Given the description of an element on the screen output the (x, y) to click on. 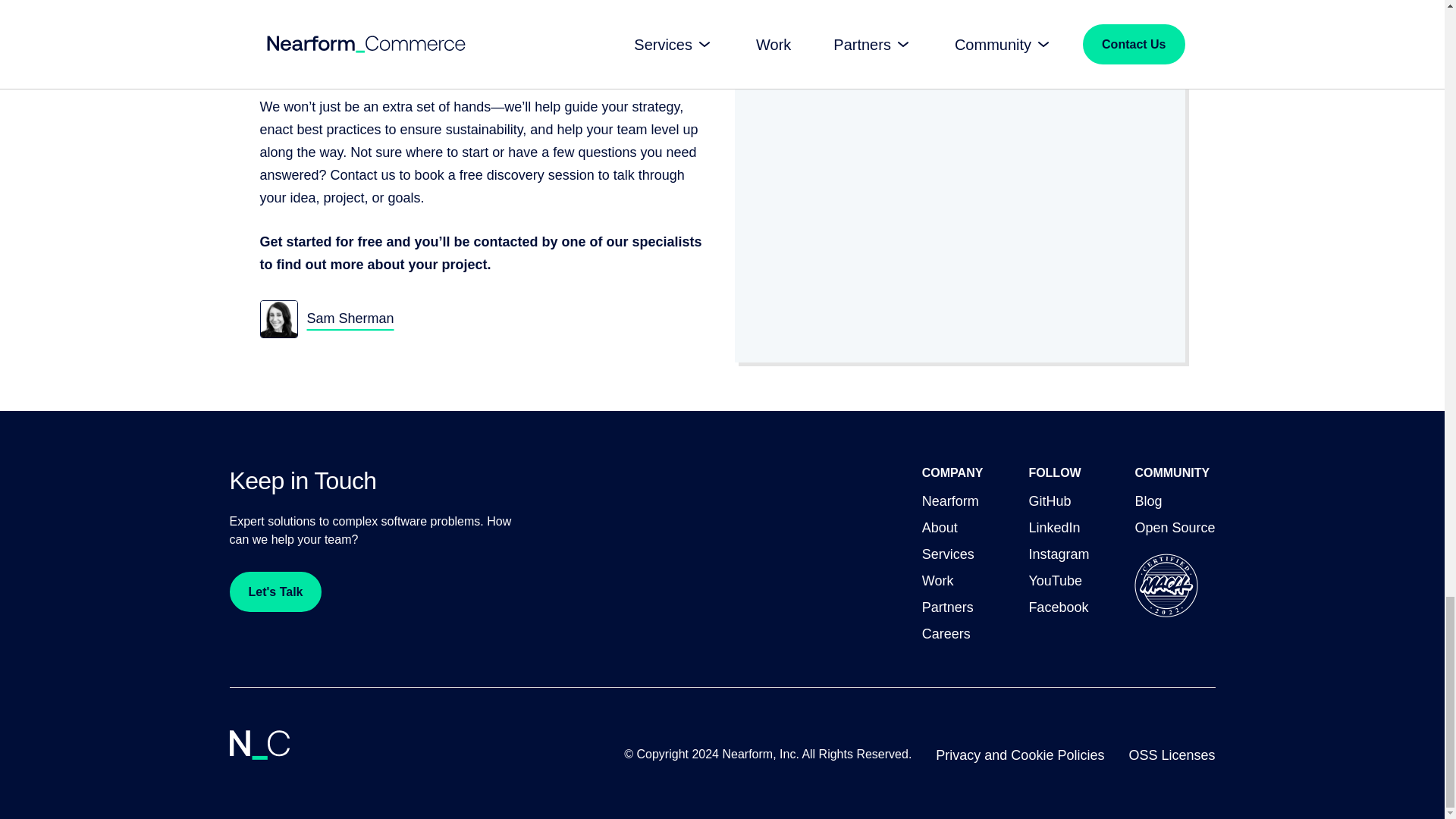
Instagram (1058, 554)
Facebook (1057, 607)
Privacy and Cookie Policies (1019, 755)
Nearform (949, 501)
OSS Licenses (1171, 755)
Let's Talk (274, 591)
YouTube (1054, 580)
Blog (1147, 501)
About (939, 527)
Sam Sherman (326, 319)
GitHub (1048, 501)
Work (937, 580)
Services (947, 554)
Careers (946, 634)
Open Source (1174, 527)
